Given the description of an element on the screen output the (x, y) to click on. 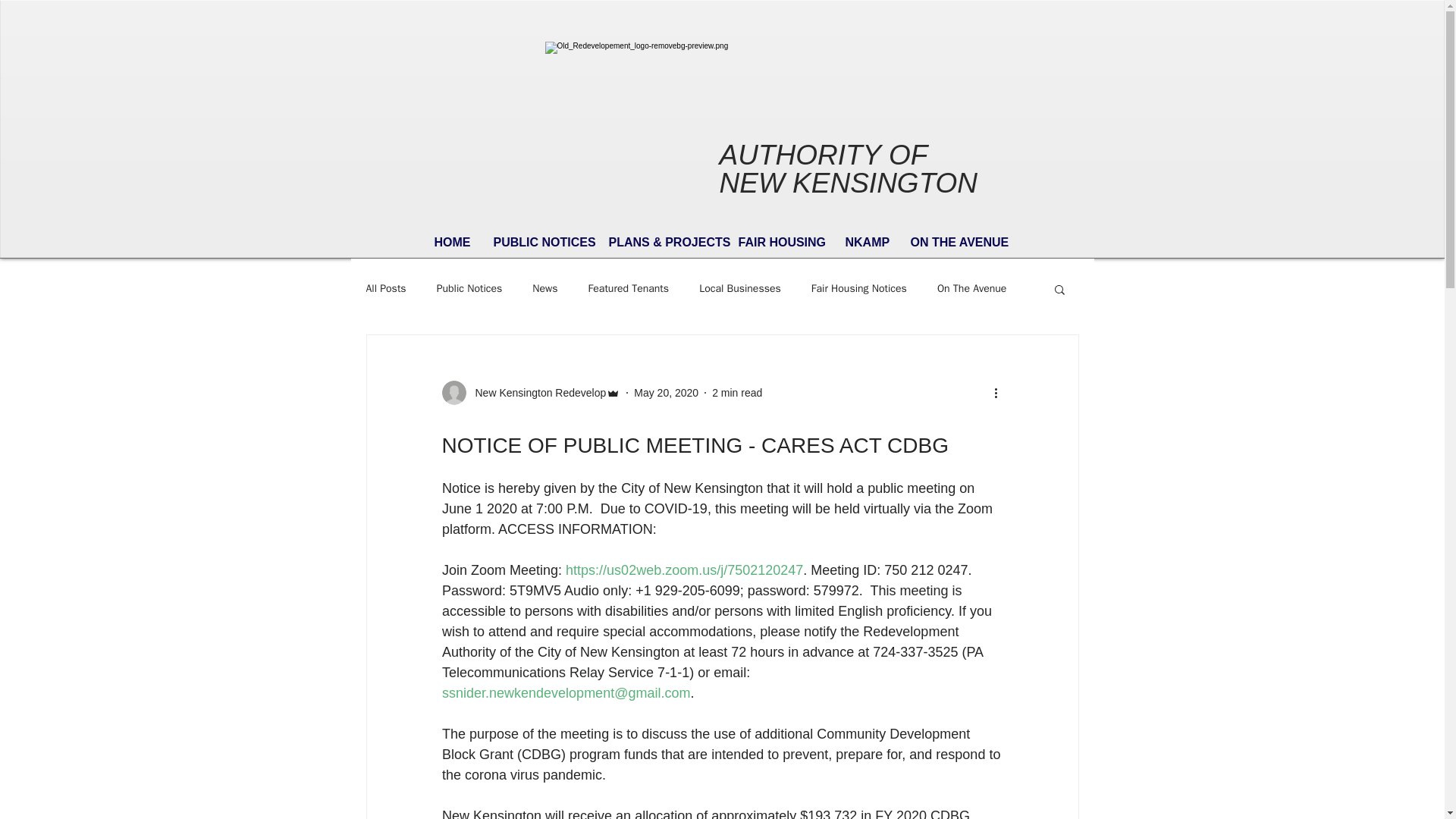
2 min read (736, 392)
NKAMP (866, 242)
All Posts (385, 288)
Fair Housing Notices (858, 288)
New Kensington Redevelop (535, 392)
On The Avenue (971, 288)
Local Businesses (739, 288)
Featured Tenants (628, 288)
ON THE AVENUE (958, 242)
New Kensington Redevelop (530, 392)
